Given the description of an element on the screen output the (x, y) to click on. 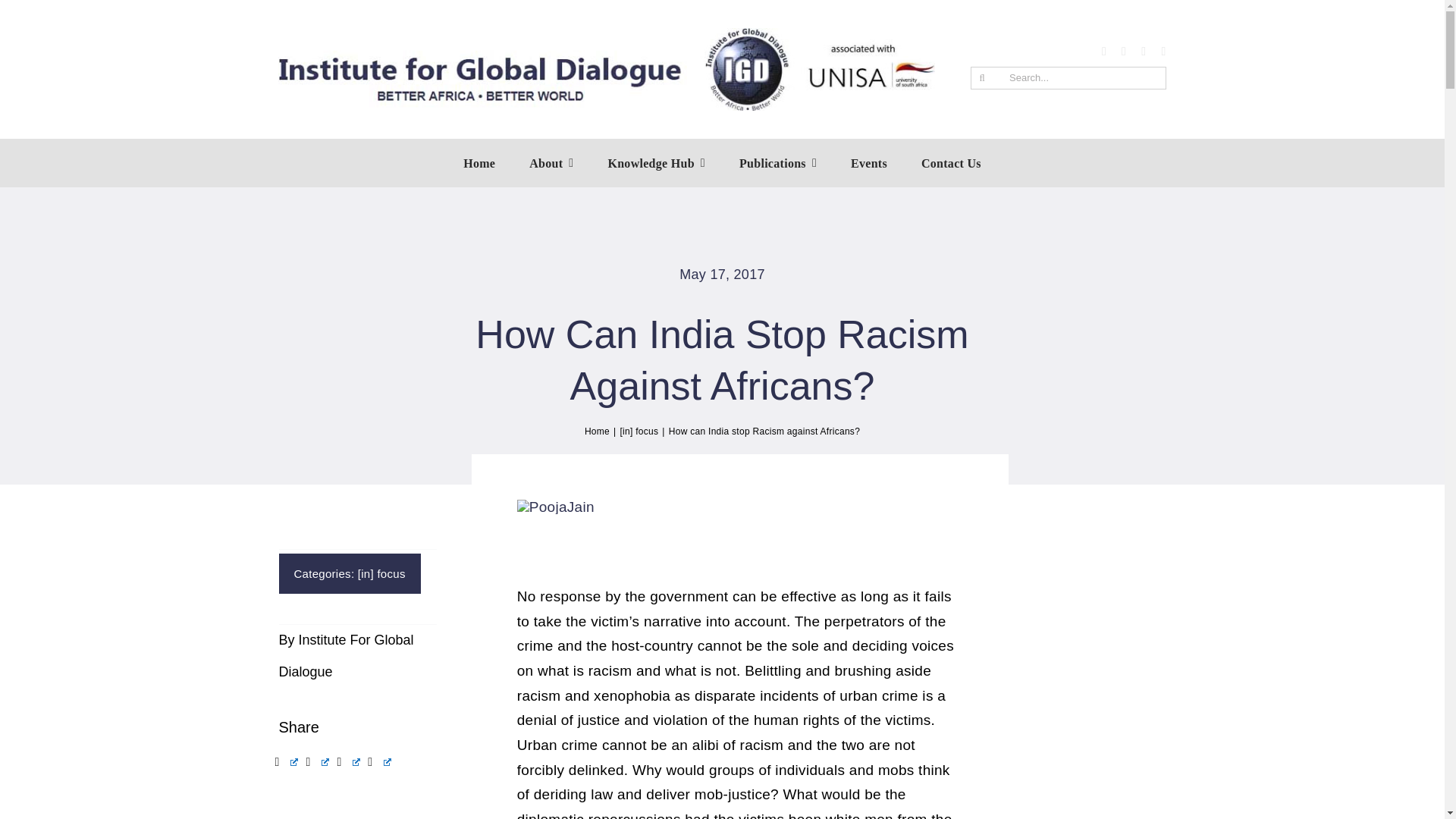
About (551, 162)
Publications (777, 162)
Knowledge Hub (655, 162)
Contact Us (951, 162)
